Given the description of an element on the screen output the (x, y) to click on. 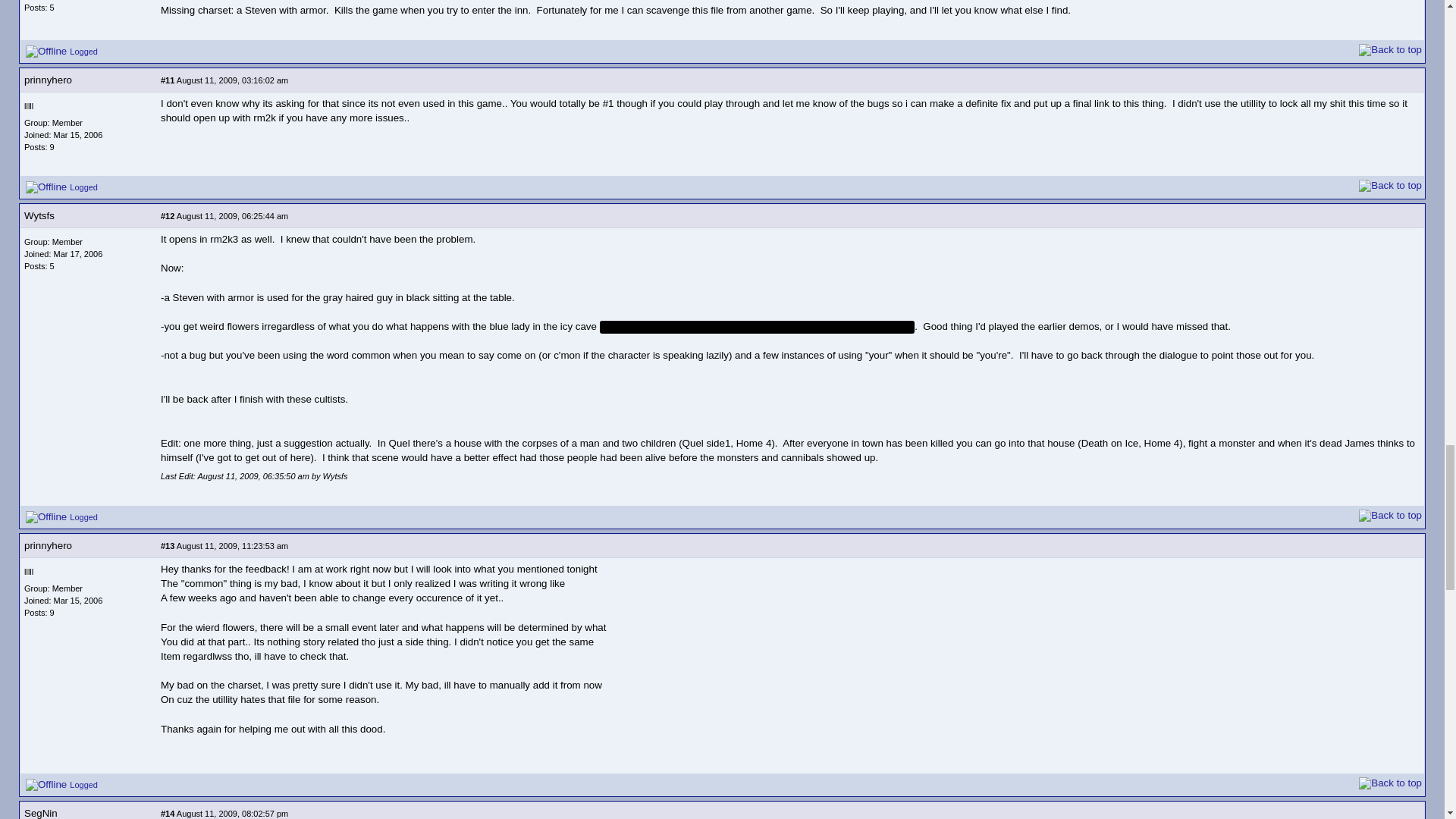
Offline (46, 51)
Offline (46, 186)
Spoiler! Click to toggle (757, 327)
Offline (46, 517)
Offline (46, 784)
